Given the description of an element on the screen output the (x, y) to click on. 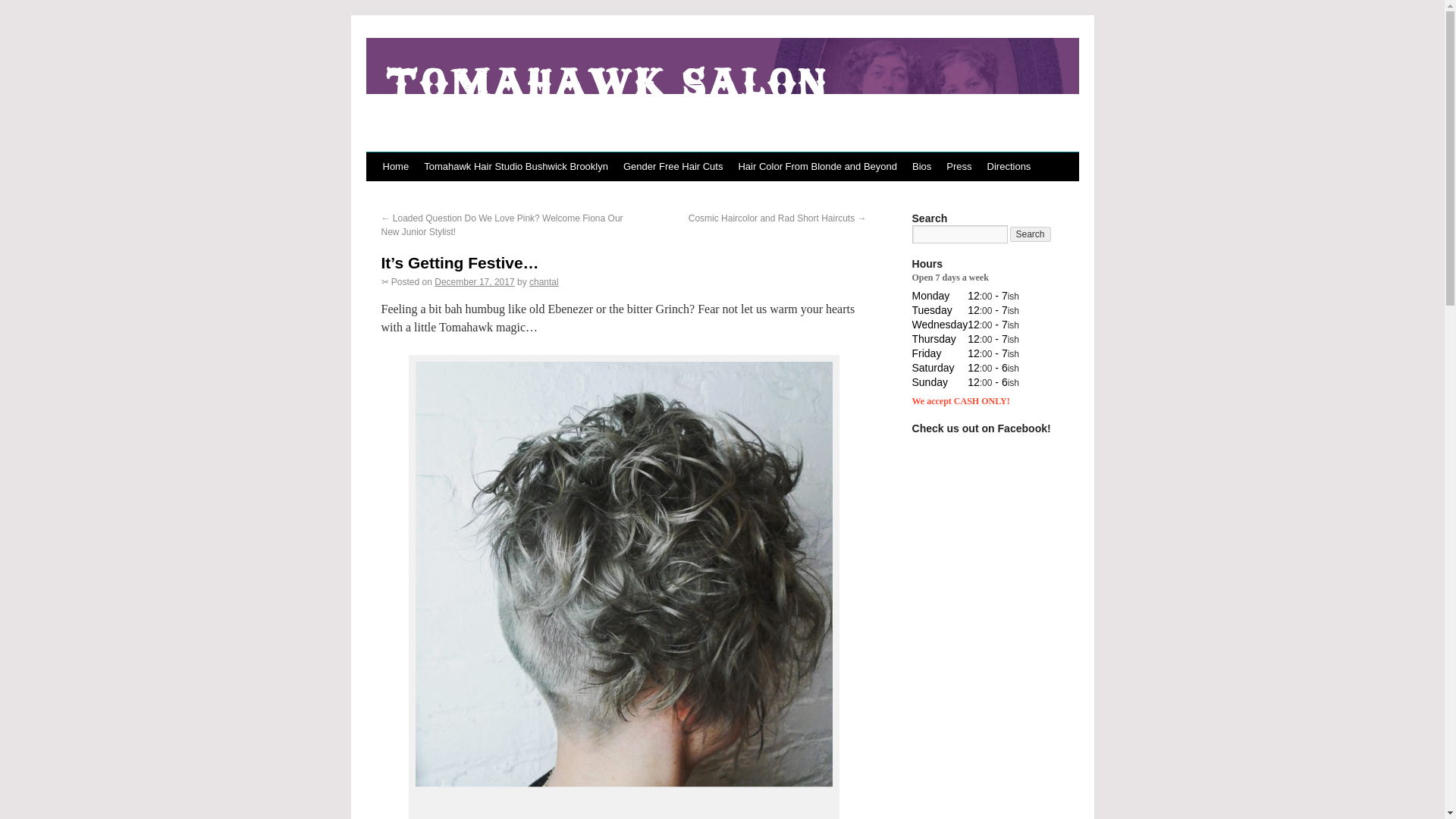
Press (958, 166)
Search (1030, 233)
Bios (921, 166)
Gender Free Hair Cuts (672, 166)
Directions (1009, 166)
Hair Color From Blonde and Beyond (817, 166)
Home (395, 166)
8:52 pm (473, 281)
December 17, 2017 (473, 281)
chantal (544, 281)
